Given the description of an element on the screen output the (x, y) to click on. 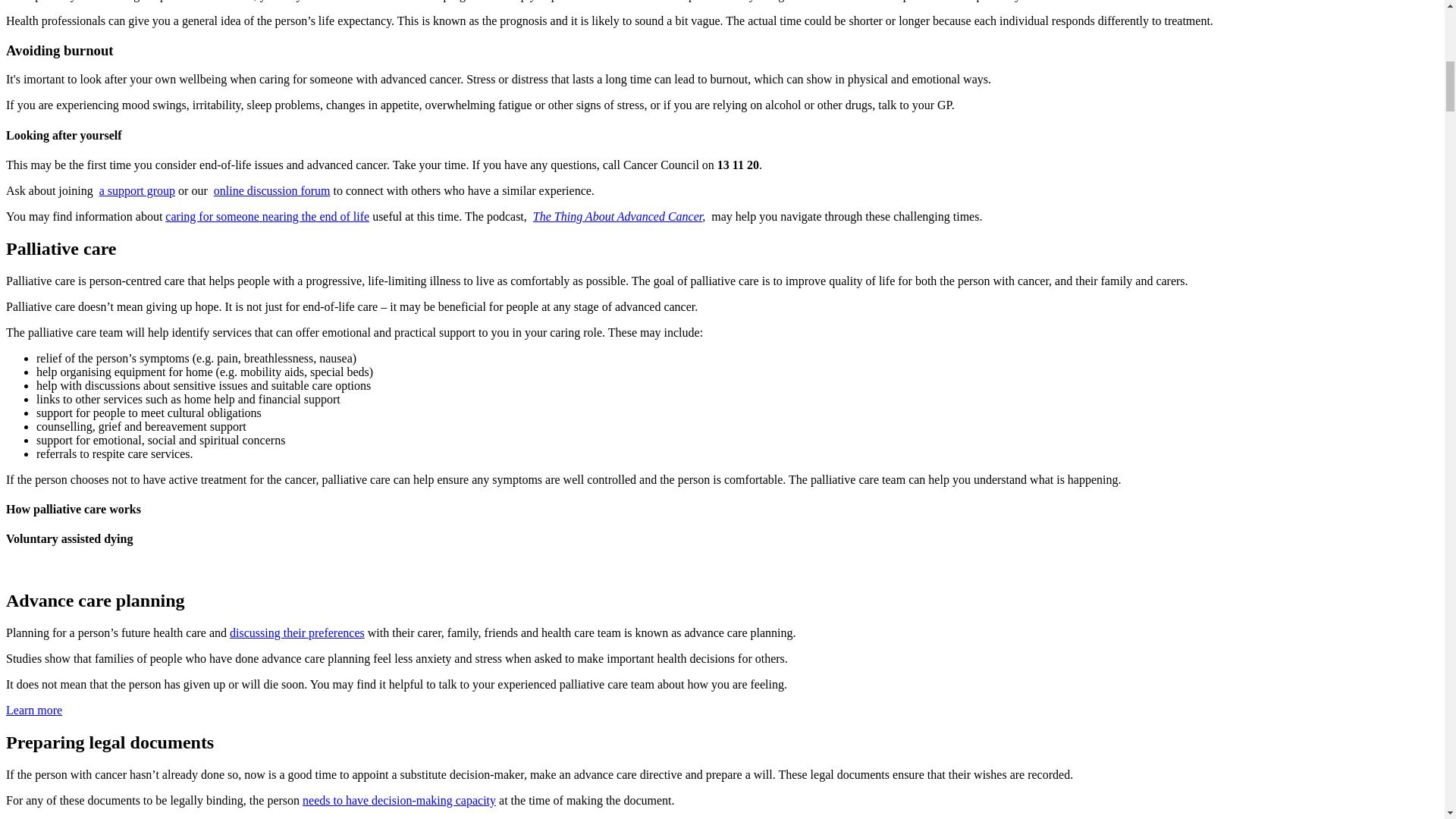
Learn more (33, 709)
discussing their preferences (297, 632)
The Thing About Advanced Cancer (616, 215)
needs to have decision-making capacity (399, 799)
caring for someone nearing the end of life (267, 215)
a support group (136, 190)
online discussion forum (272, 190)
